Given the description of an element on the screen output the (x, y) to click on. 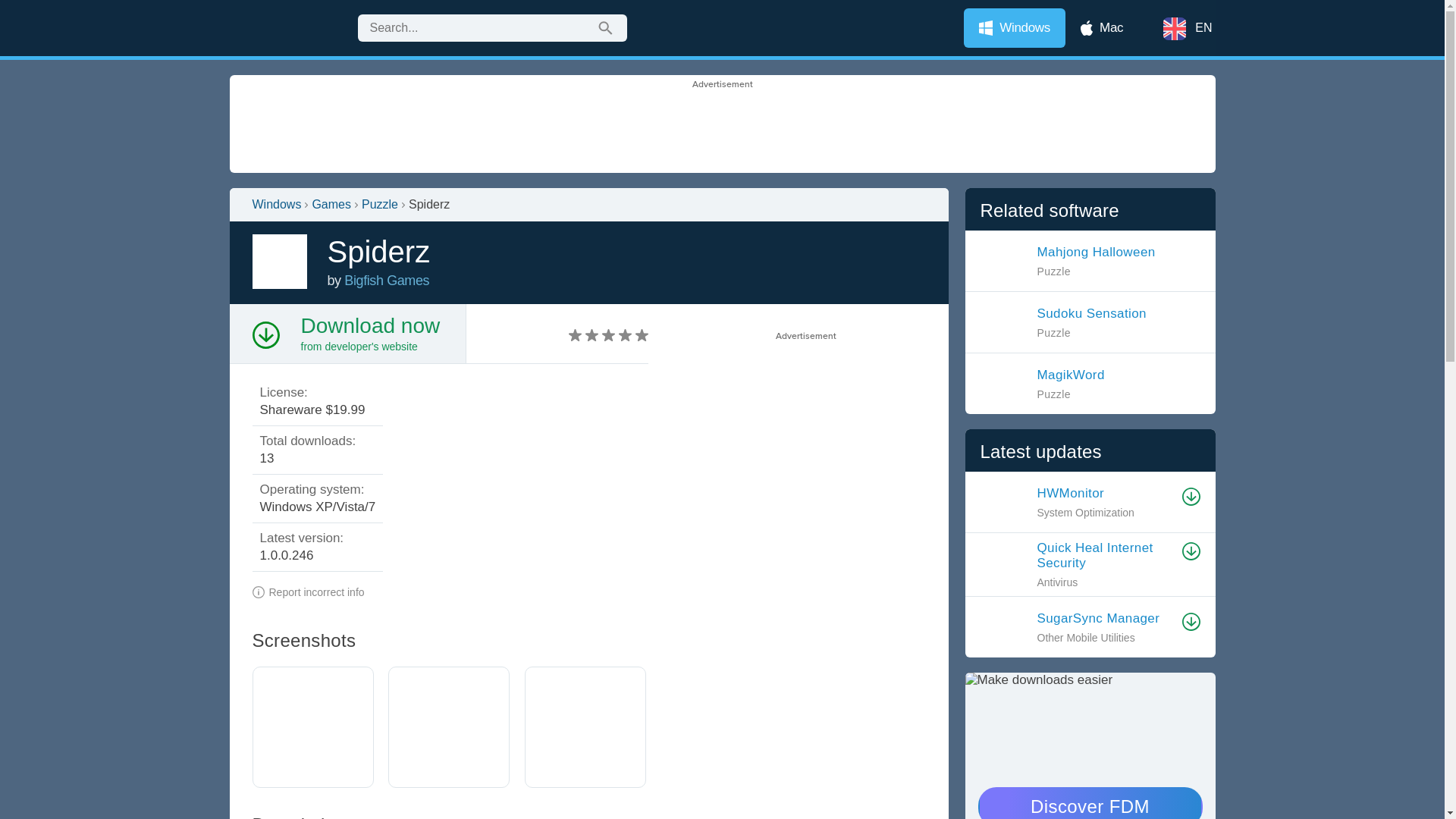
Download now (1041, 383)
Windows (369, 325)
SugarSync Manager (1014, 27)
Sudoku Sensation (1104, 618)
2 (1062, 321)
Mac (584, 335)
HWMonitor (1101, 27)
